Given the description of an element on the screen output the (x, y) to click on. 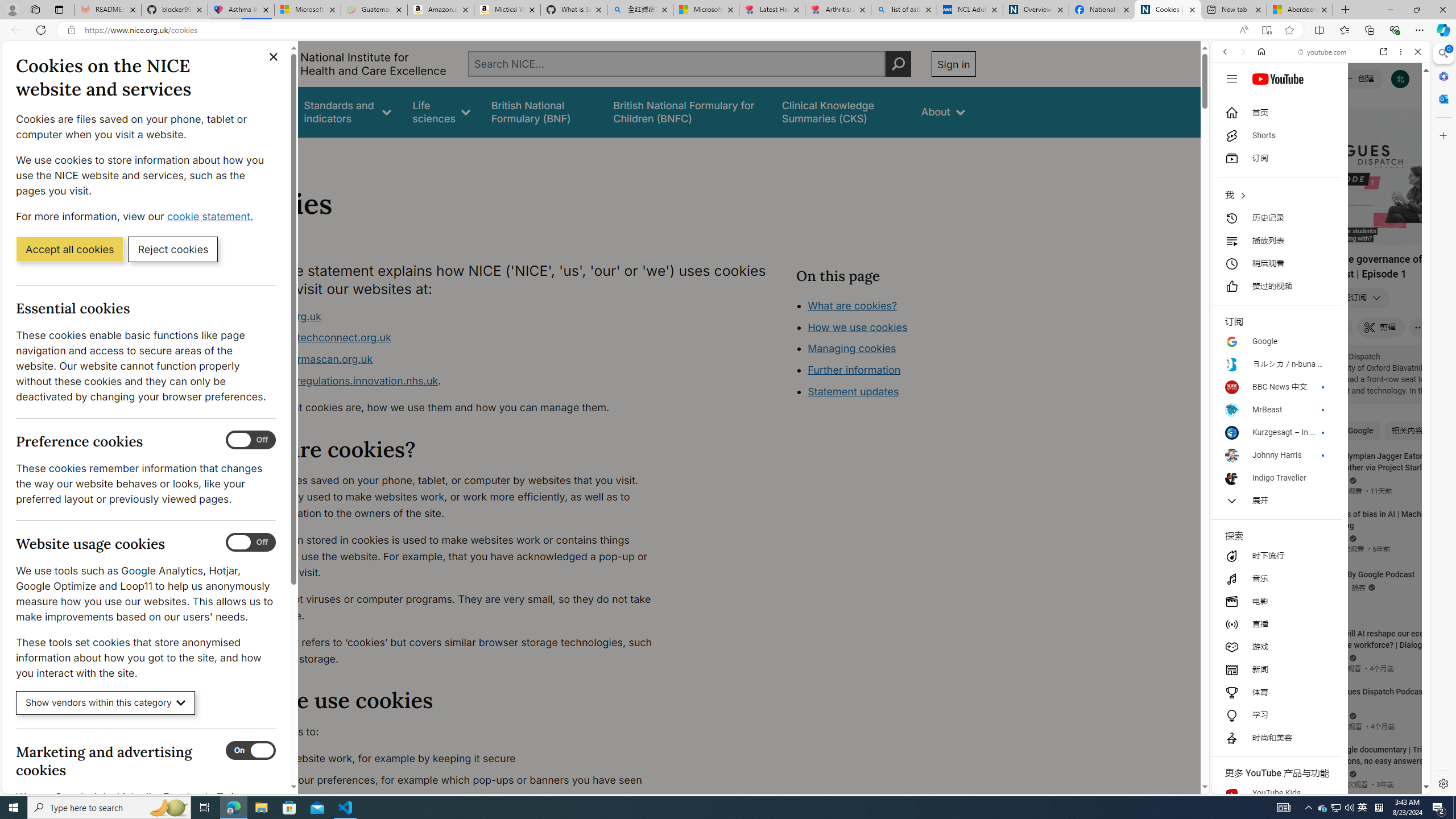
Preference cookies (250, 439)
make our website work, for example by keeping it secure (452, 759)
list of asthma inhalers uk - Search (904, 9)
youtube.com (1322, 51)
